Given the description of an element on the screen output the (x, y) to click on. 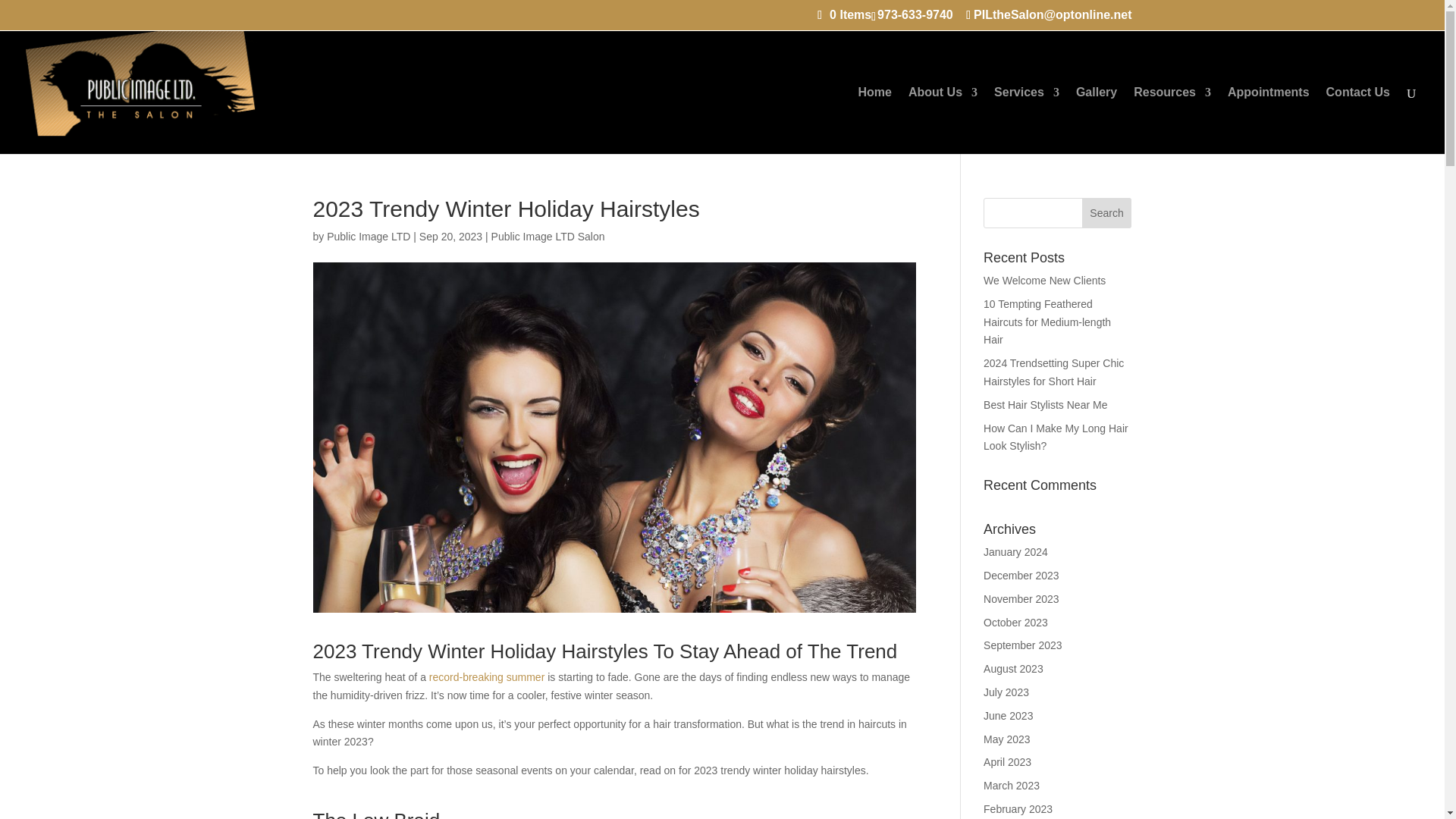
Appointments (1267, 119)
Services (1026, 119)
0 Items (843, 14)
Home (875, 119)
About Us (942, 119)
Posts by Public Image LTD (368, 236)
Contact Us (1358, 119)
Gallery (1095, 119)
Resources (1172, 119)
Search (1106, 213)
